Given the description of an element on the screen output the (x, y) to click on. 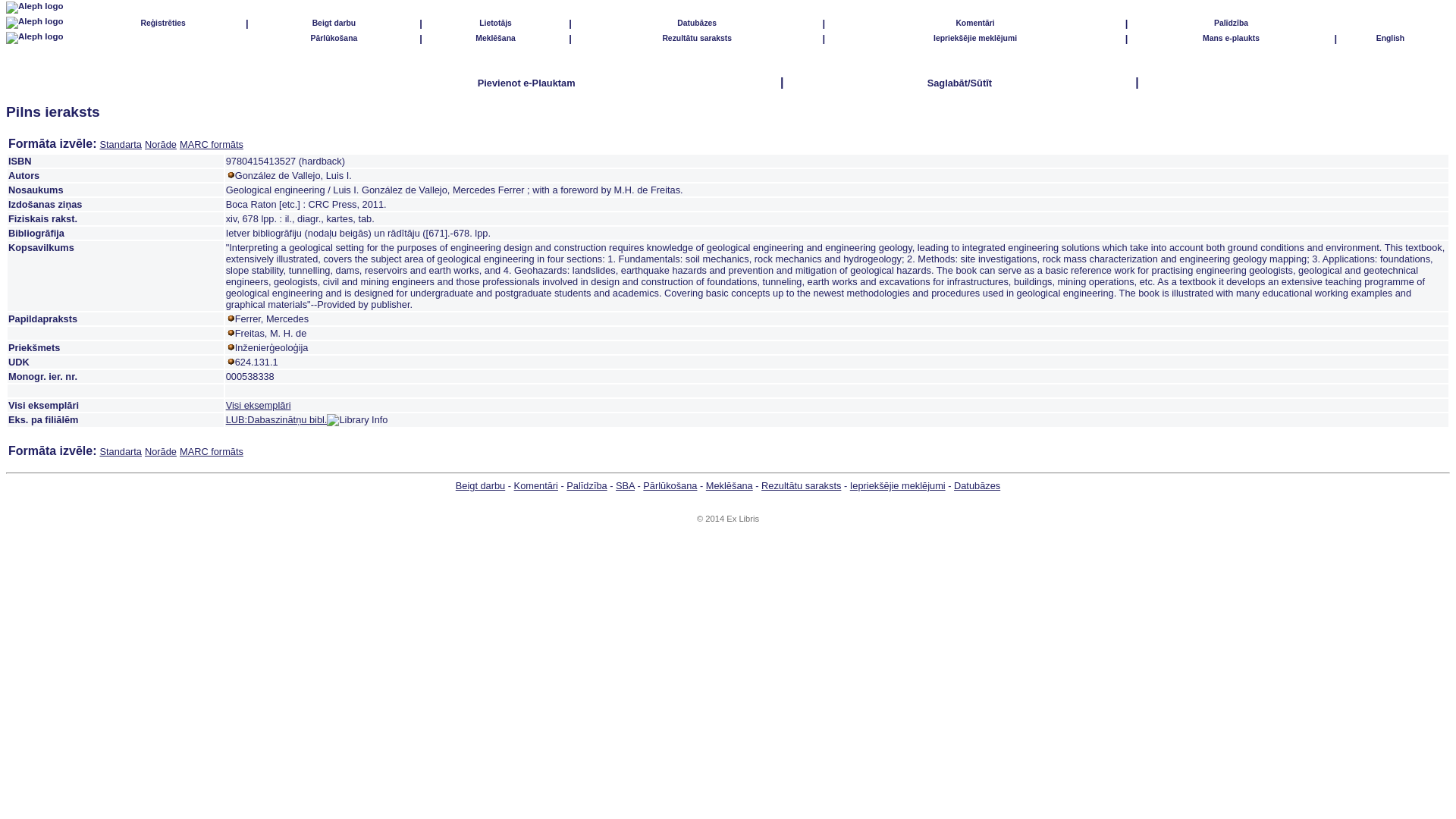
Freitas, M. H. de (270, 333)
Pievienot e-Plauktam (526, 82)
624.131.1 (256, 361)
Switch to English (1390, 37)
Standarta (120, 451)
Ferrer, Mercedes (271, 318)
Beigt darbu (334, 22)
Mans e-plaukts (1230, 37)
SBA (624, 485)
English (1390, 37)
